Given the description of an element on the screen output the (x, y) to click on. 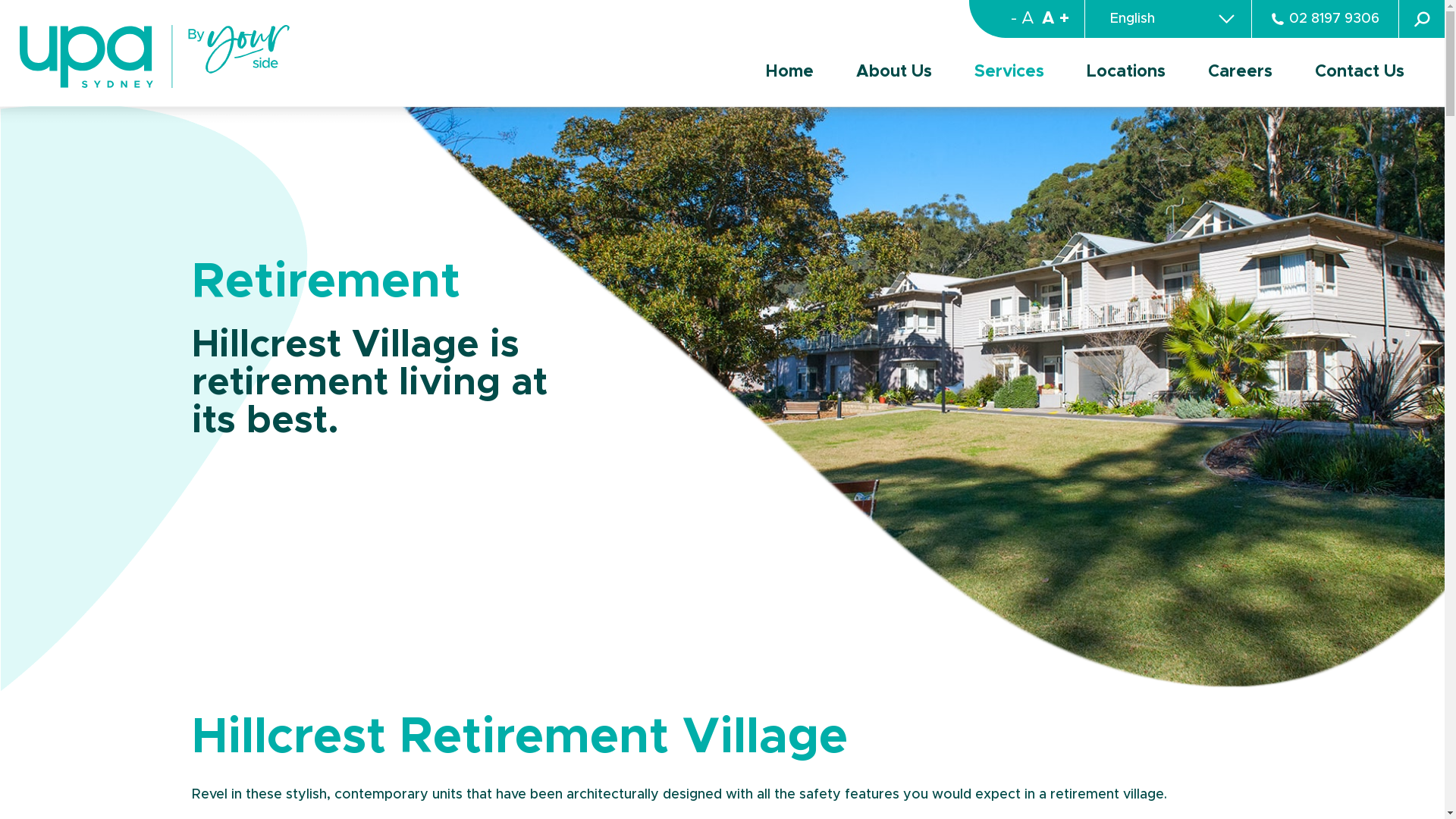
Home Element type: text (789, 72)
Contact Us Element type: text (1359, 72)
English Element type: text (1167, 19)
Go! Element type: text (23, 15)
Careers Element type: text (1239, 72)
- A Element type: text (1022, 18)
About Us Element type: text (893, 72)
Locations Element type: text (1125, 72)
A + Element type: text (1063, 18)
